Given the description of an element on the screen output the (x, y) to click on. 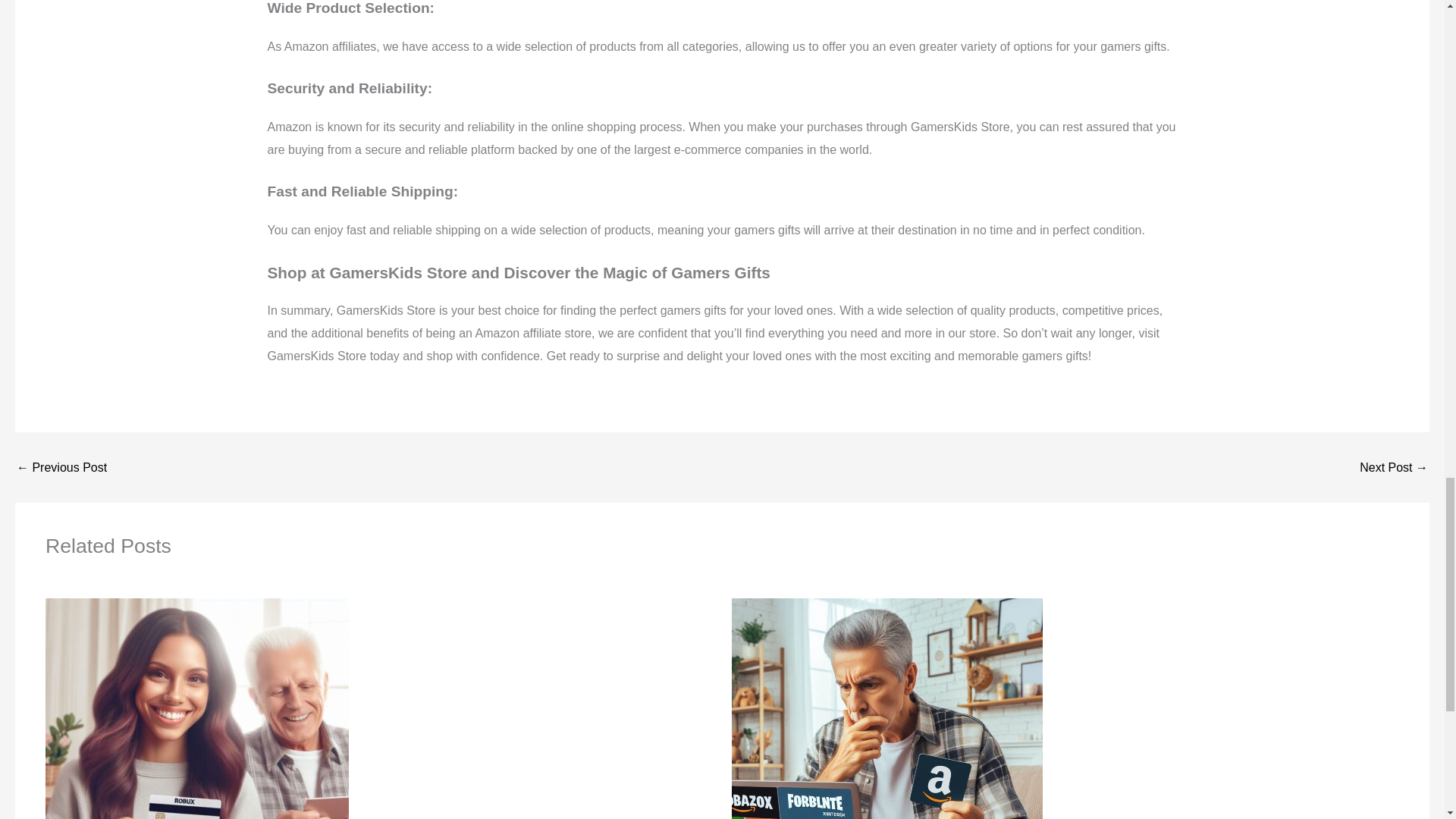
PlayStation 6 will be ready by 2028? (1393, 467)
